Given the description of an element on the screen output the (x, y) to click on. 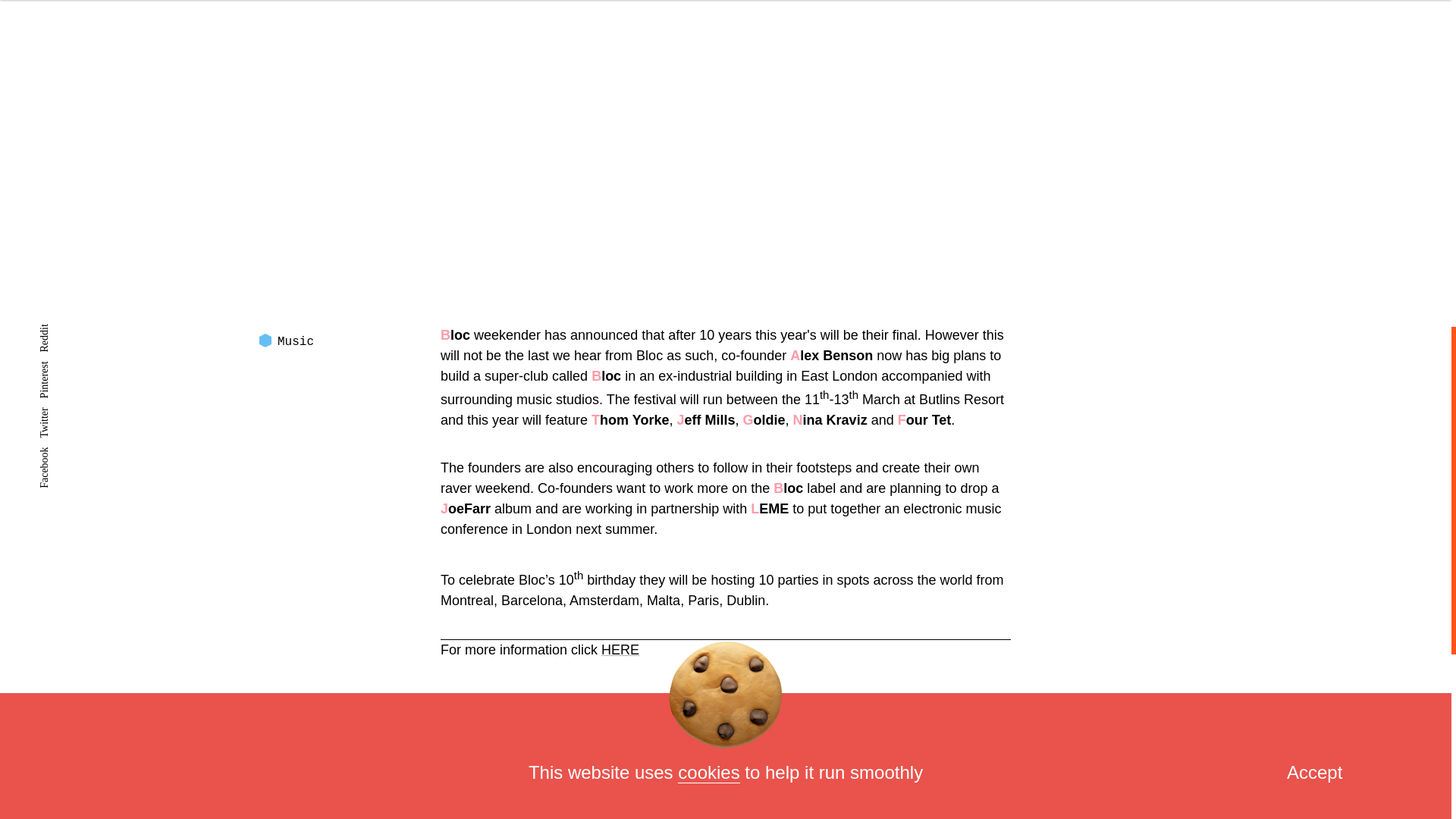
HERE (620, 649)
